Given the description of an element on the screen output the (x, y) to click on. 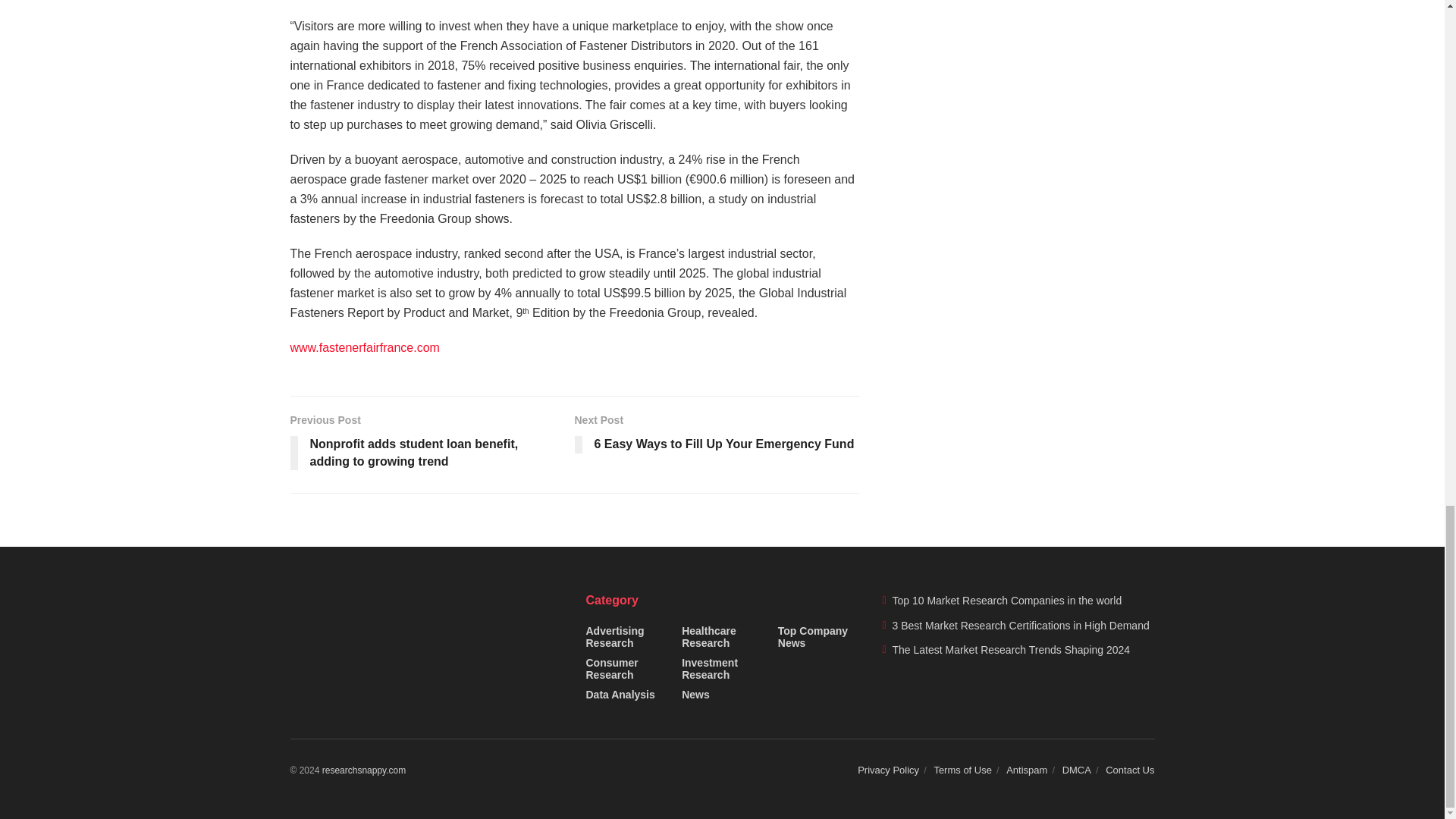
Data Analysis (619, 693)
Consumer Research (625, 668)
Investment Research (721, 668)
Healthcare Research (721, 636)
Advertising Research (625, 636)
researchsnappy.com (717, 436)
www.fastenerfairfrance.com (363, 769)
News (364, 347)
